Given the description of an element on the screen output the (x, y) to click on. 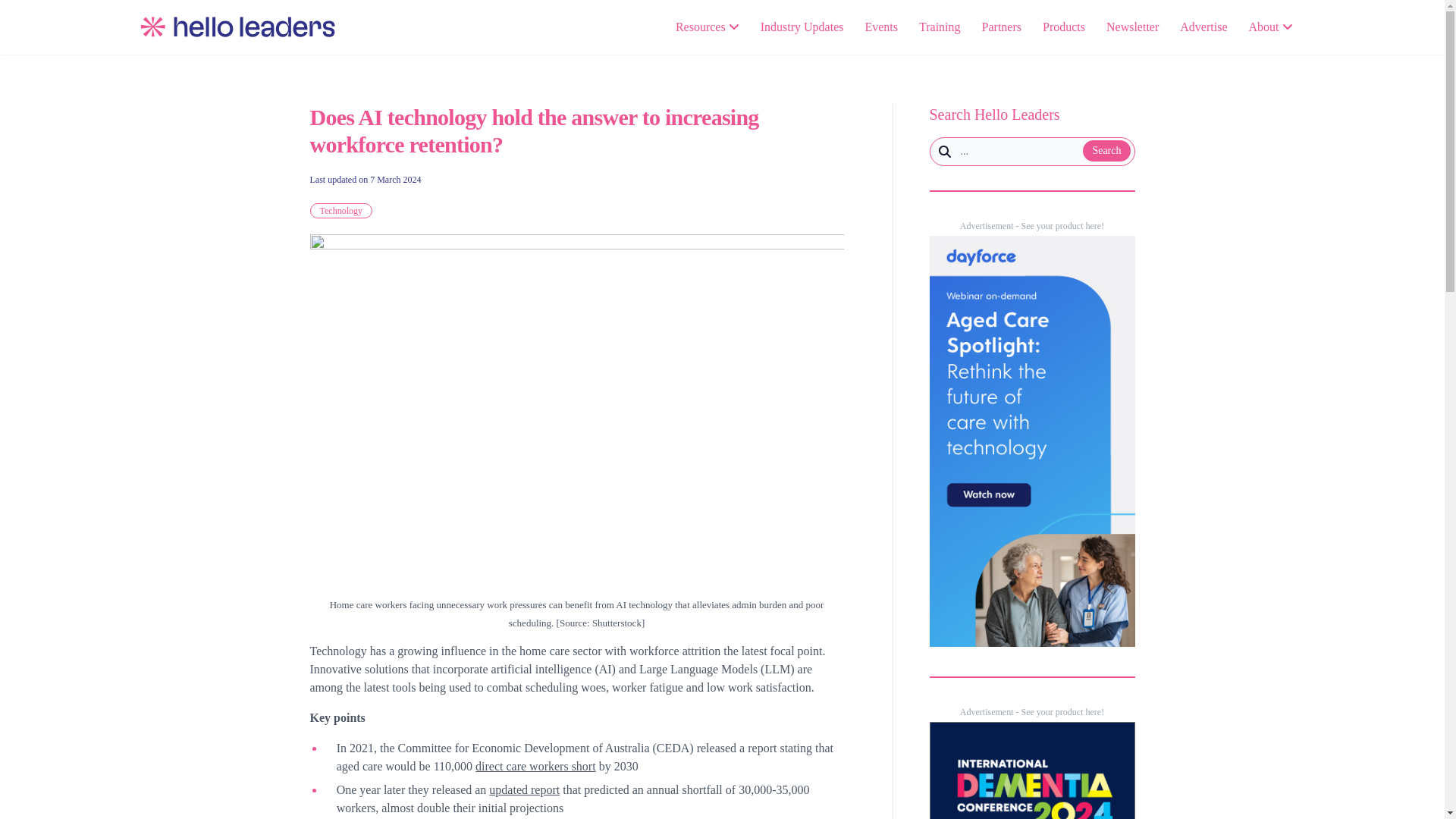
Events (881, 27)
Search (1106, 150)
Newsletter (1132, 27)
updated report (524, 789)
Training (939, 27)
Advertisement - See your product here! (1031, 711)
Advertise (1203, 27)
Industry Updates (802, 27)
direct care workers short (535, 766)
Advertisement - See your product here! (1031, 225)
